Given the description of an element on the screen output the (x, y) to click on. 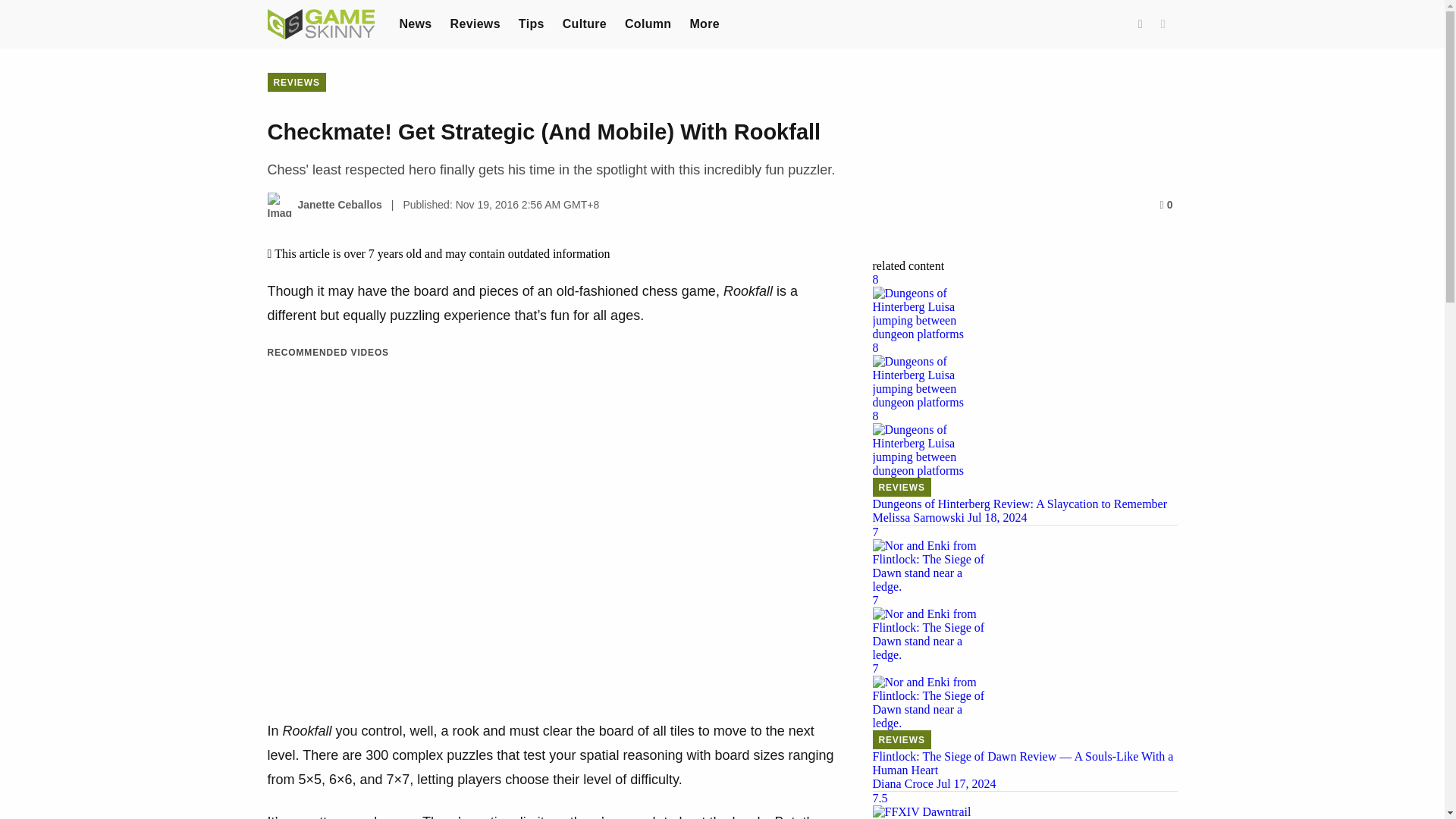
Column (647, 23)
Reviews (474, 23)
Tips (531, 23)
News (414, 23)
Culture (584, 23)
